Given the description of an element on the screen output the (x, y) to click on. 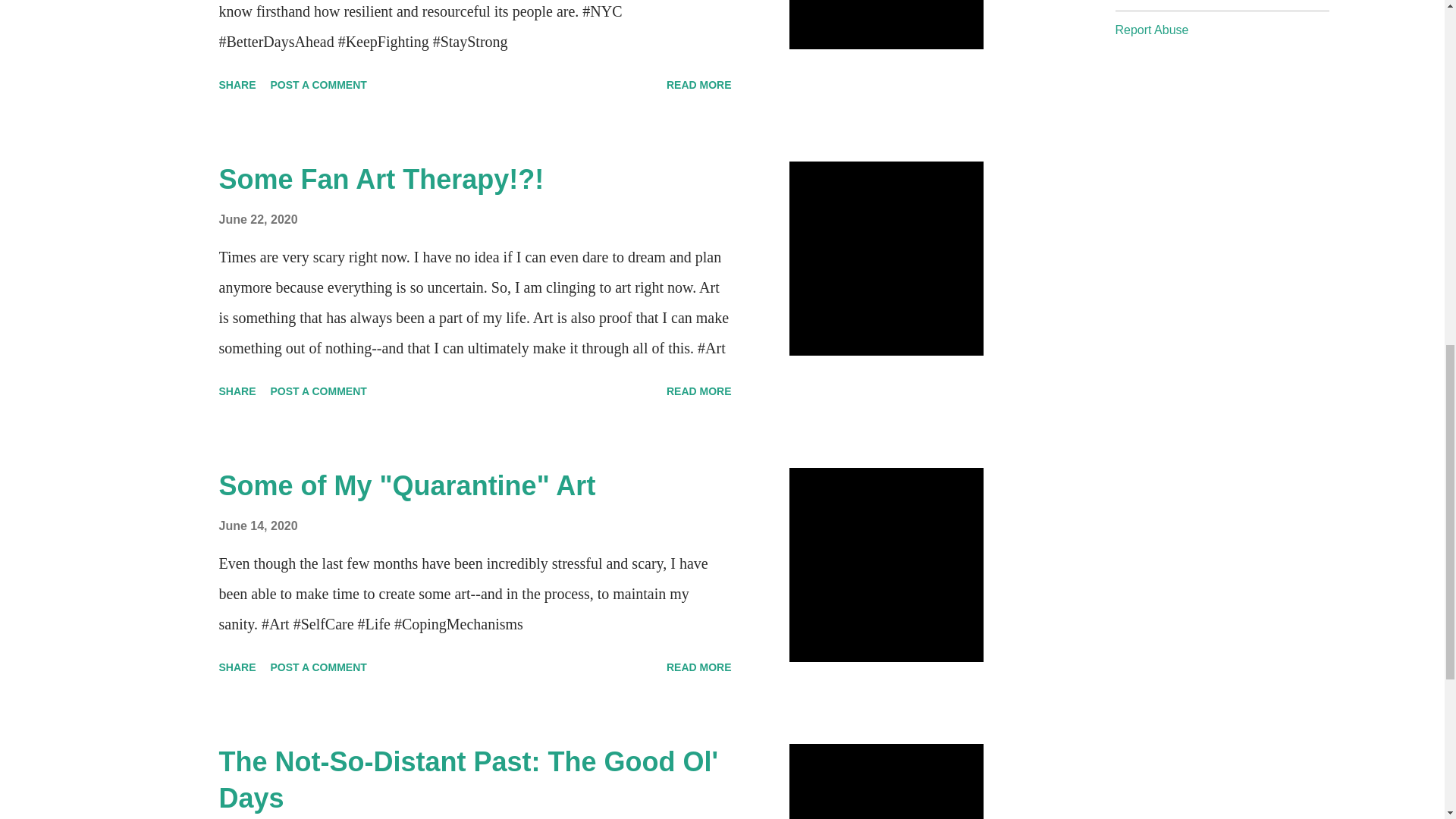
READ MORE (699, 84)
READ MORE (699, 391)
SHARE (237, 667)
SHARE (237, 84)
Some Fan Art Therapy!?! (380, 178)
POST A COMMENT (318, 667)
POST A COMMENT (318, 84)
Some of My "Quarantine" Art (406, 485)
SHARE (237, 391)
June 14, 2020 (257, 525)
